Given the description of an element on the screen output the (x, y) to click on. 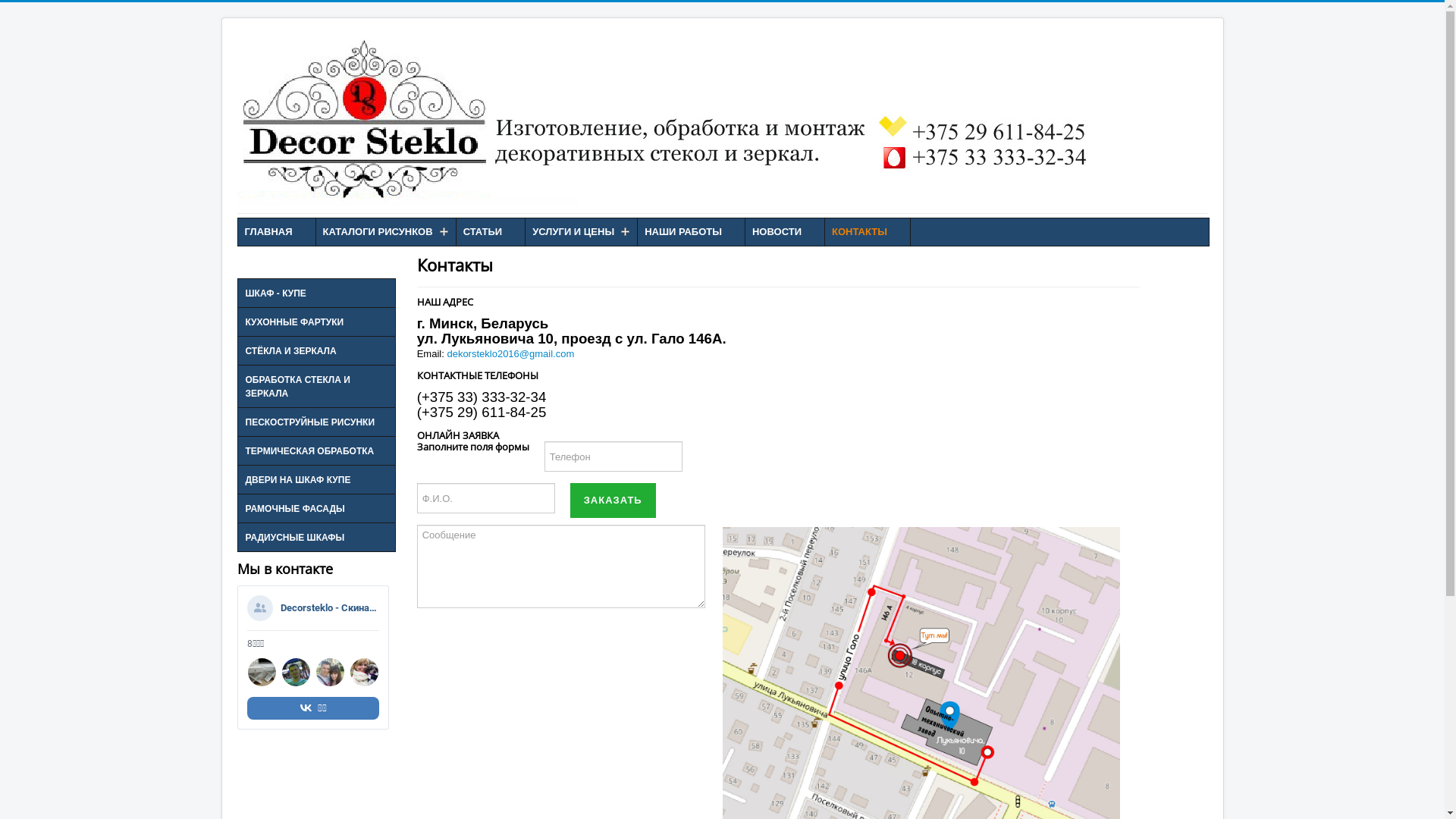
dekorsteklo2016@gmail.com Element type: text (510, 353)
